Given the description of an element on the screen output the (x, y) to click on. 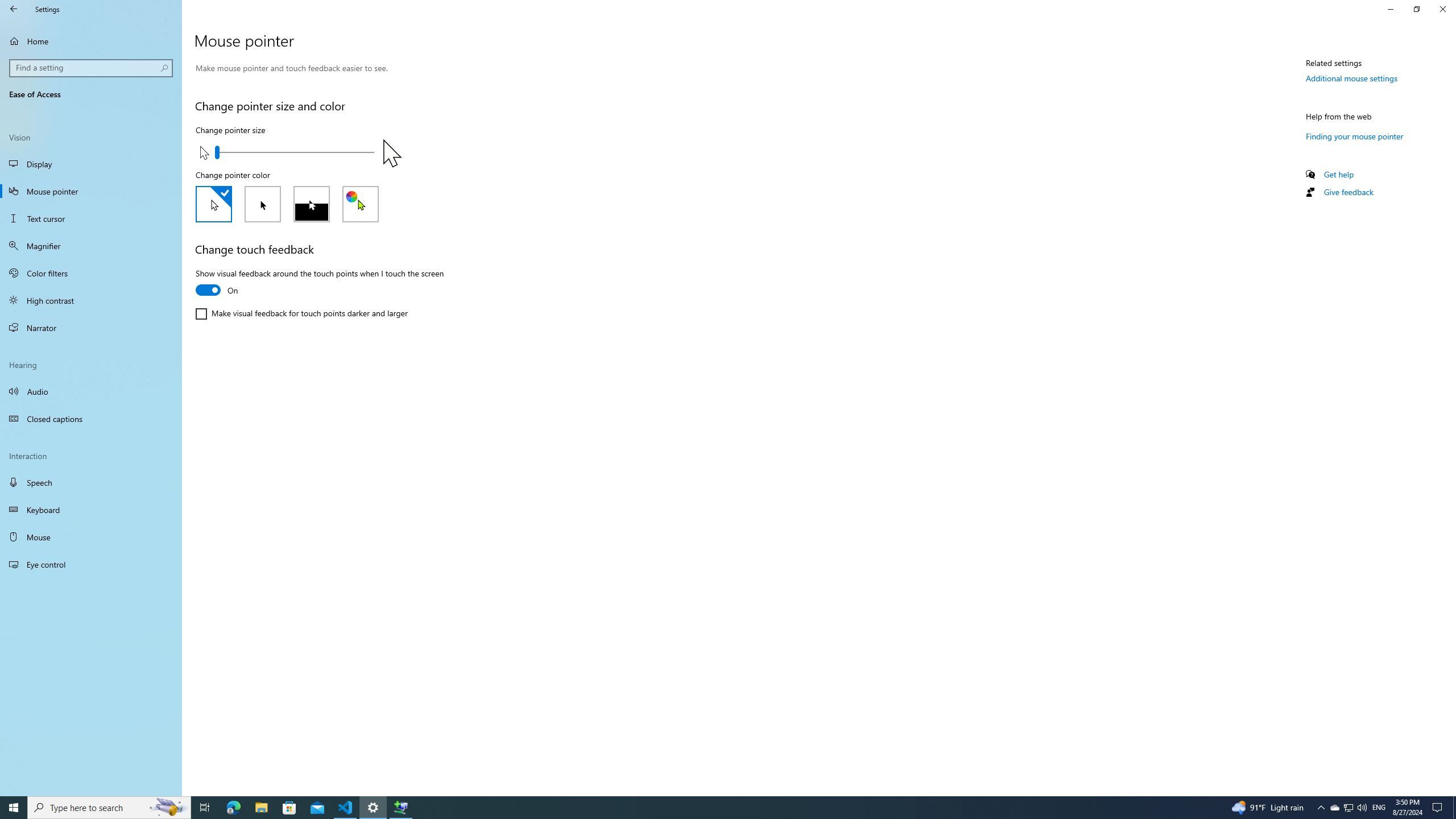
Show desktop (1454, 807)
Extensible Wizards Host Process - 1 running window (400, 807)
Black (262, 204)
Tray Input Indicator - English (United States) (1378, 807)
Speech (91, 482)
Action Center, No new notifications (1333, 807)
High contrast (1439, 807)
Finding your mouse pointer (91, 299)
Microsoft Edge (1354, 136)
Notification Chevron (233, 807)
Close Settings (1320, 807)
Search highlights icon opens search home window (1442, 9)
Get help (167, 807)
